Given the description of an element on the screen output the (x, y) to click on. 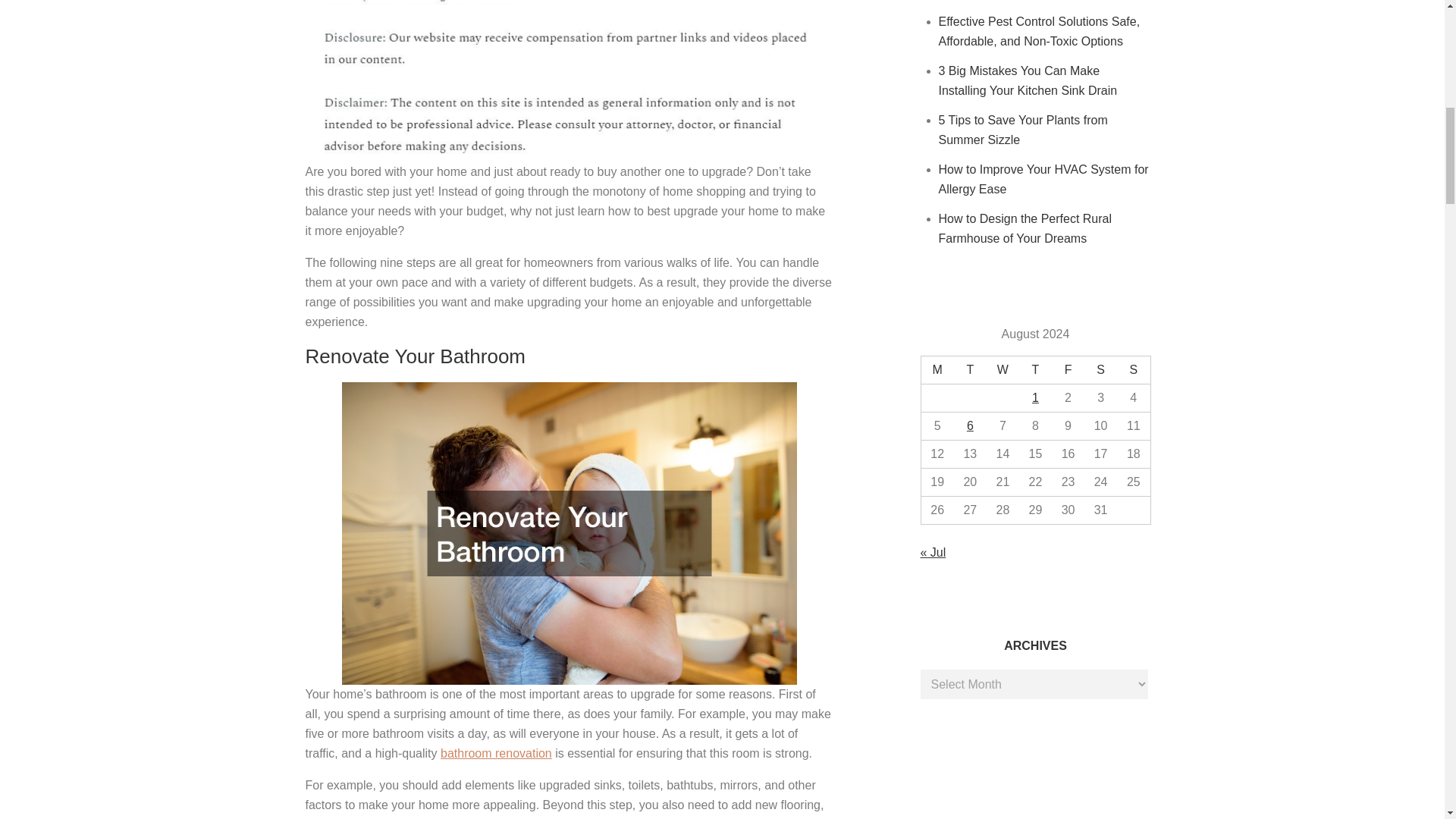
Friday (1067, 370)
Saturday (1100, 370)
Monday (936, 370)
5 Tips to Save Your Plants from Summer Sizzle (1023, 129)
Tuesday (970, 370)
Sunday (1133, 370)
Thursday (1035, 370)
Wednesday (1003, 370)
How to Design the Perfect Rural Farmhouse of Your Dreams (1025, 228)
How to Improve Your HVAC System for Allergy Ease (1043, 178)
bathroom renovation (496, 753)
